Given the description of an element on the screen output the (x, y) to click on. 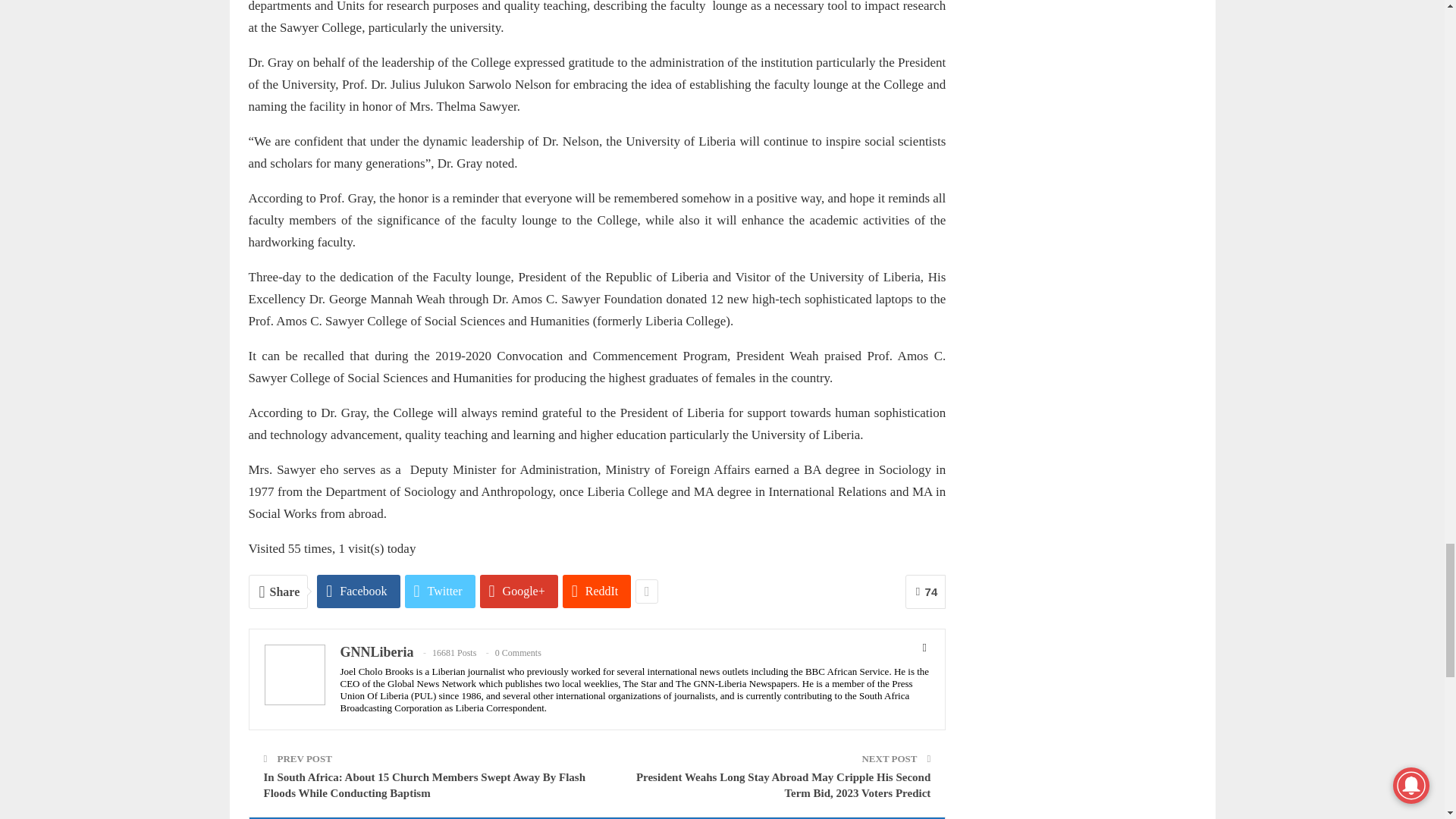
ReddIt (596, 591)
GNNLiberia (376, 652)
Facebook (357, 591)
Twitter (440, 591)
